Given the description of an element on the screen output the (x, y) to click on. 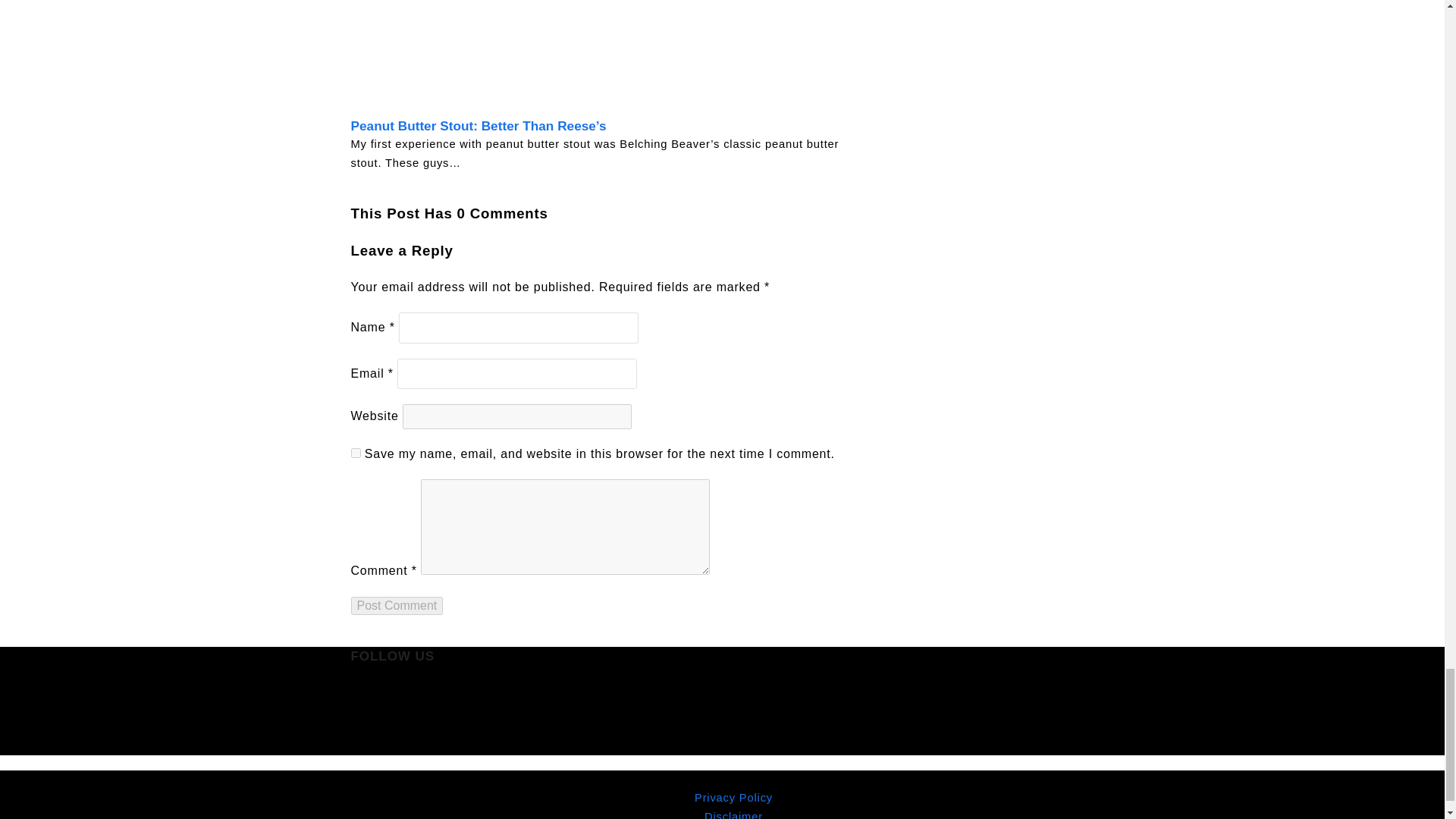
yes (354, 452)
Post Comment (396, 606)
Post Comment (396, 606)
